Given the description of an element on the screen output the (x, y) to click on. 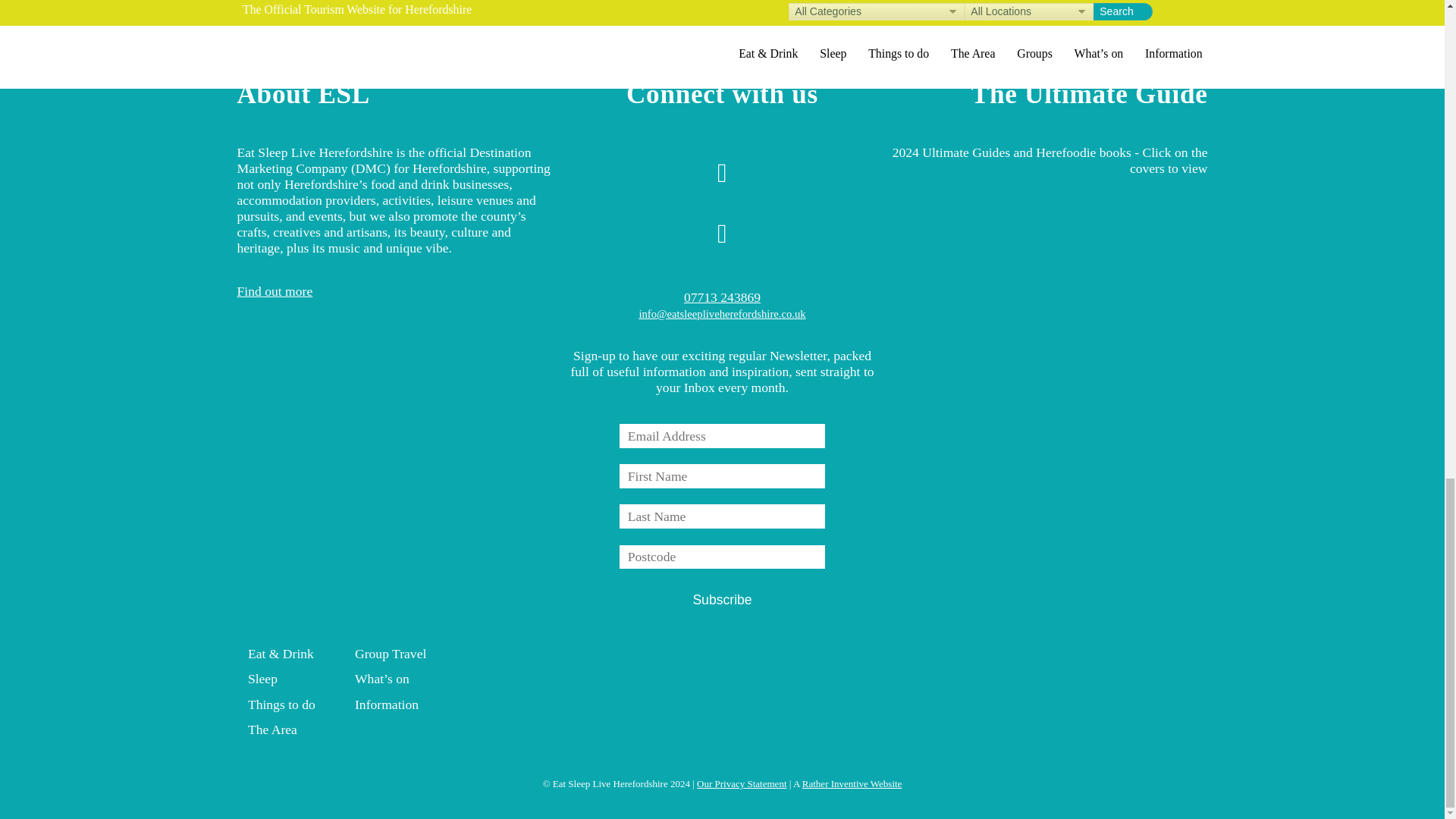
Subscribe (722, 600)
